Given the description of an element on the screen output the (x, y) to click on. 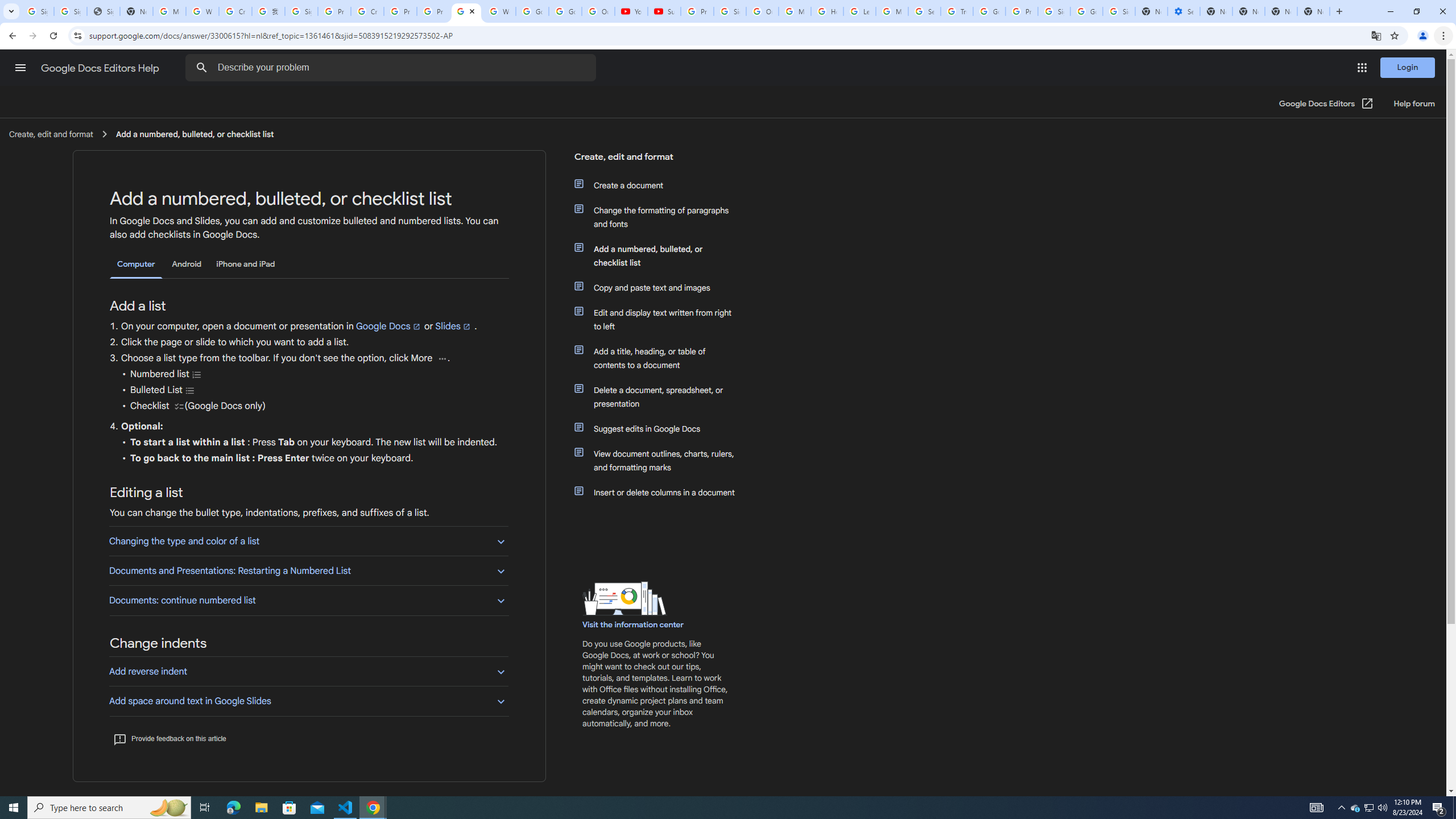
Google Docs Editors Help (100, 68)
Trusted Information and Content - Google Safety Center (957, 11)
Create your Google Account (235, 11)
Create, edit and format (656, 160)
Delete a document, spreadsheet, or presentation (661, 396)
Subscriptions - YouTube (663, 11)
iPhone and iPad (245, 263)
More (441, 357)
Search the Help Center (201, 67)
Main menu (20, 67)
Add a title, heading, or table of contents to a document (661, 358)
